Given the description of an element on the screen output the (x, y) to click on. 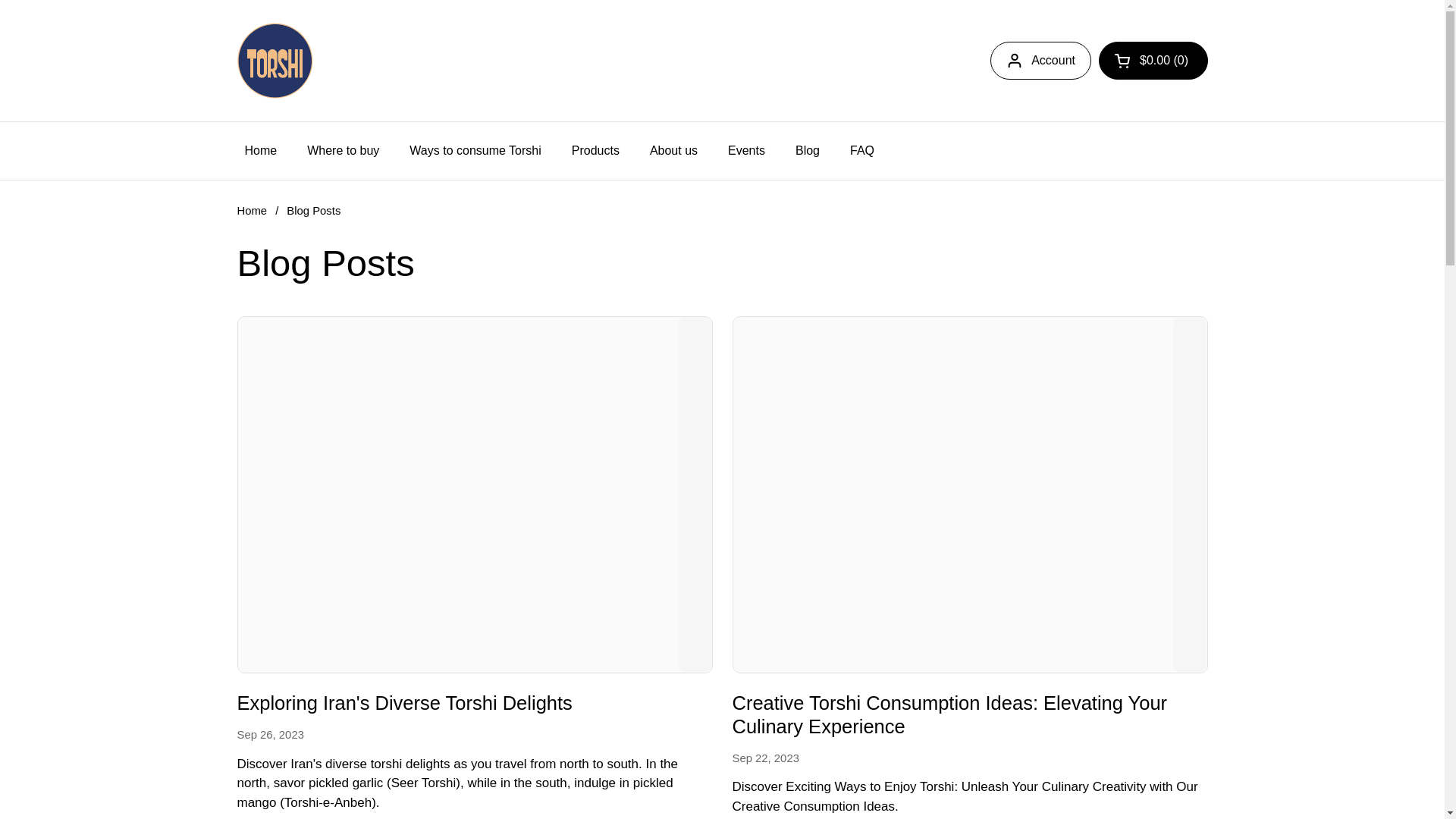
Where to buy (343, 150)
Products (595, 150)
Open cart (1153, 60)
FAQ (861, 150)
Home (250, 210)
Ways to consume Torshi (475, 150)
Exploring Iran's Diverse Torshi Delights (403, 705)
Exploring Iran's Diverse Torshi Delights (403, 705)
Blog (807, 150)
Events (746, 150)
